Given the description of an element on the screen output the (x, y) to click on. 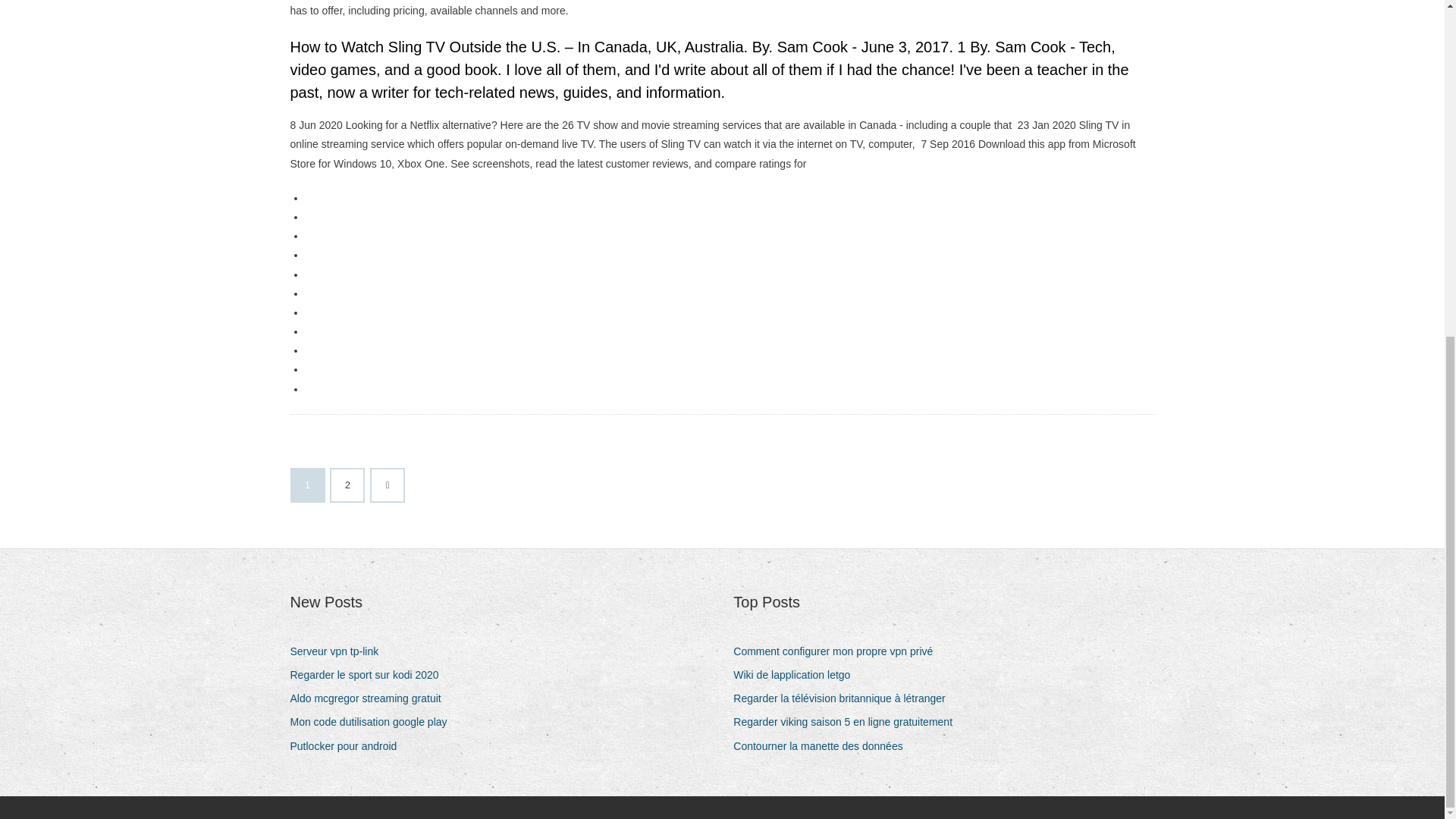
Putlocker pour android (348, 746)
Serveur vpn tp-link (339, 651)
Aldo mcgregor streaming gratuit (370, 698)
Mon code dutilisation google play (373, 721)
Regarder le sport sur kodi 2020 (369, 675)
Regarder viking saison 5 en ligne gratuitement (848, 721)
2 (346, 485)
Wiki de lapplication letgo (797, 675)
